Given the description of an element on the screen output the (x, y) to click on. 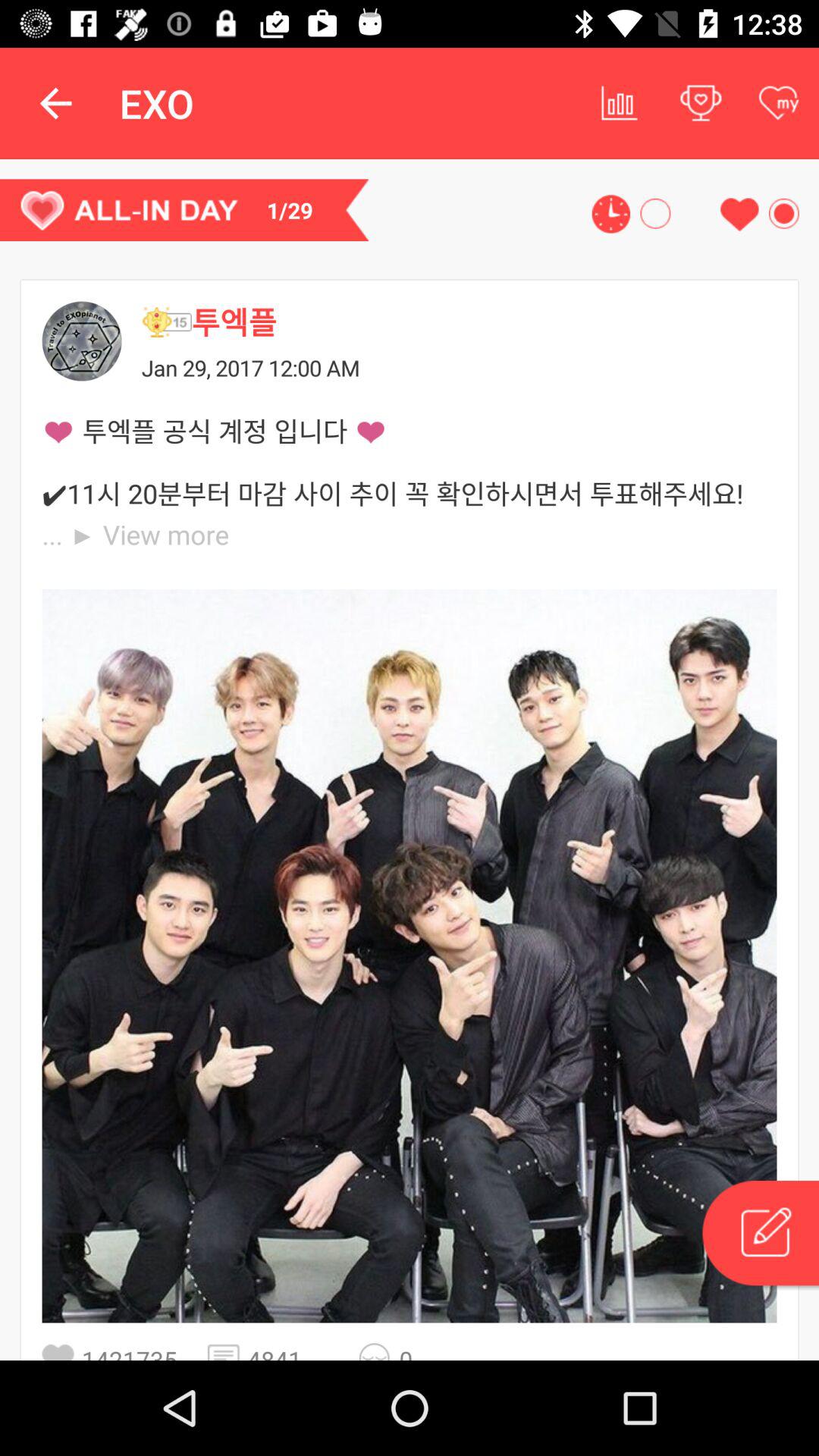
tap icon to the right of 1421735 item (227, 1351)
